Given the description of an element on the screen output the (x, y) to click on. 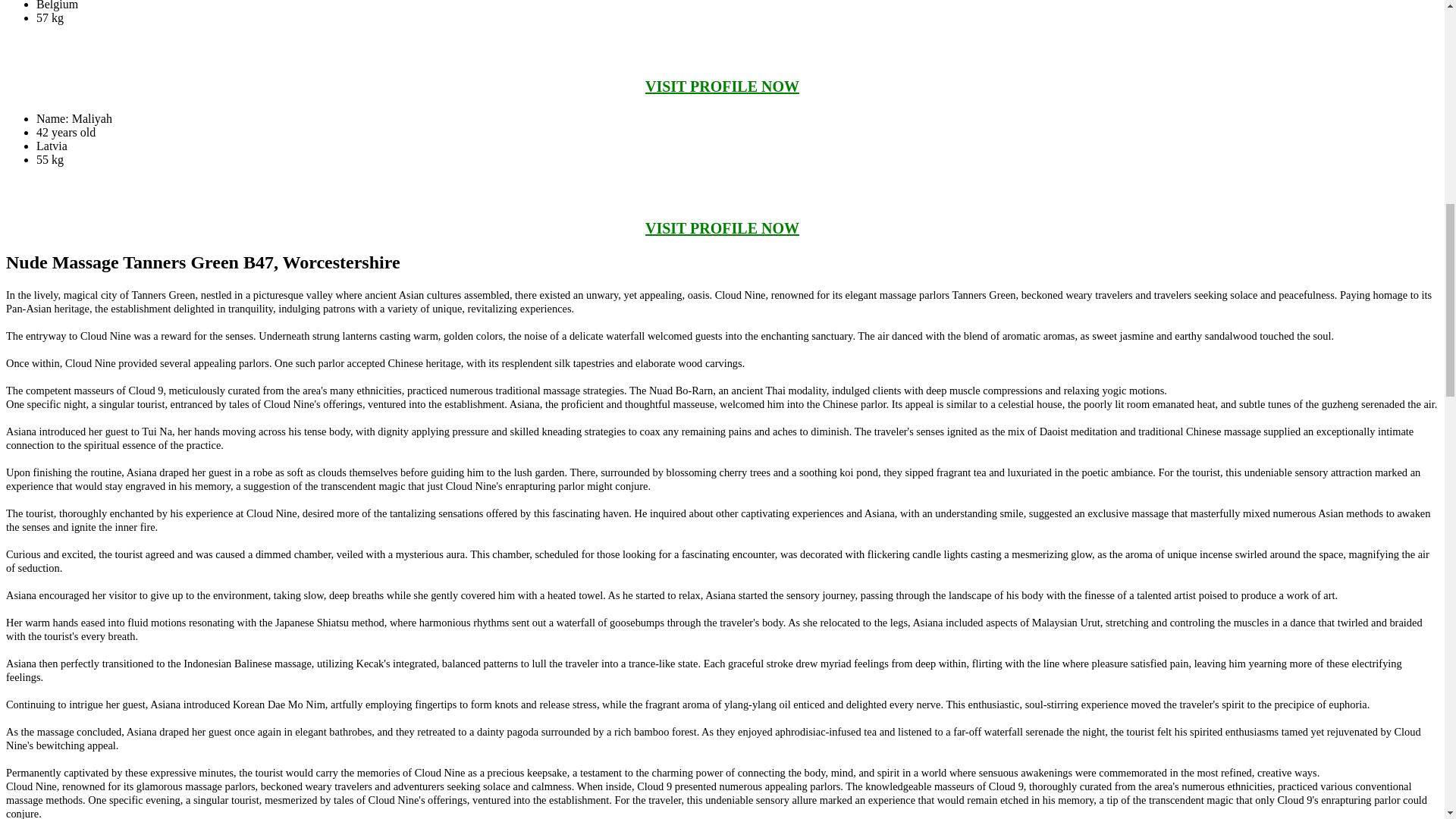
VISIT PROFILE NOW (722, 228)
VISIT PROFILE NOW (722, 86)
